Given the description of an element on the screen output the (x, y) to click on. 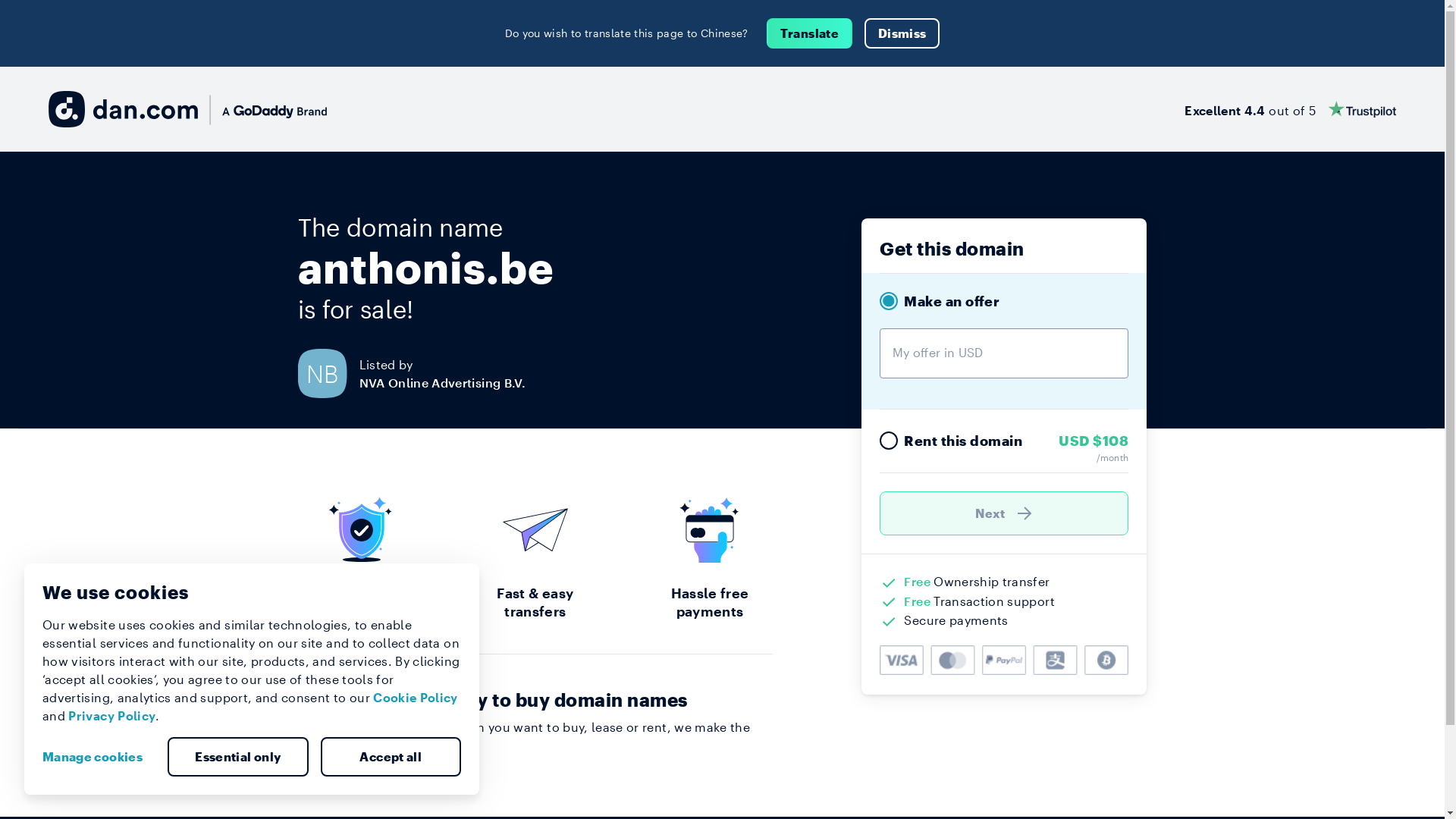
Essential only Element type: text (237, 756)
Dismiss Element type: text (901, 33)
Next
) Element type: text (1003, 513)
Accept all Element type: text (390, 756)
Excellent 4.4 out of 5 Element type: text (1290, 109)
Privacy Policy Element type: text (111, 715)
Manage cookies Element type: text (98, 756)
Translate Element type: text (809, 33)
Cookie Policy Element type: text (415, 697)
